Given the description of an element on the screen output the (x, y) to click on. 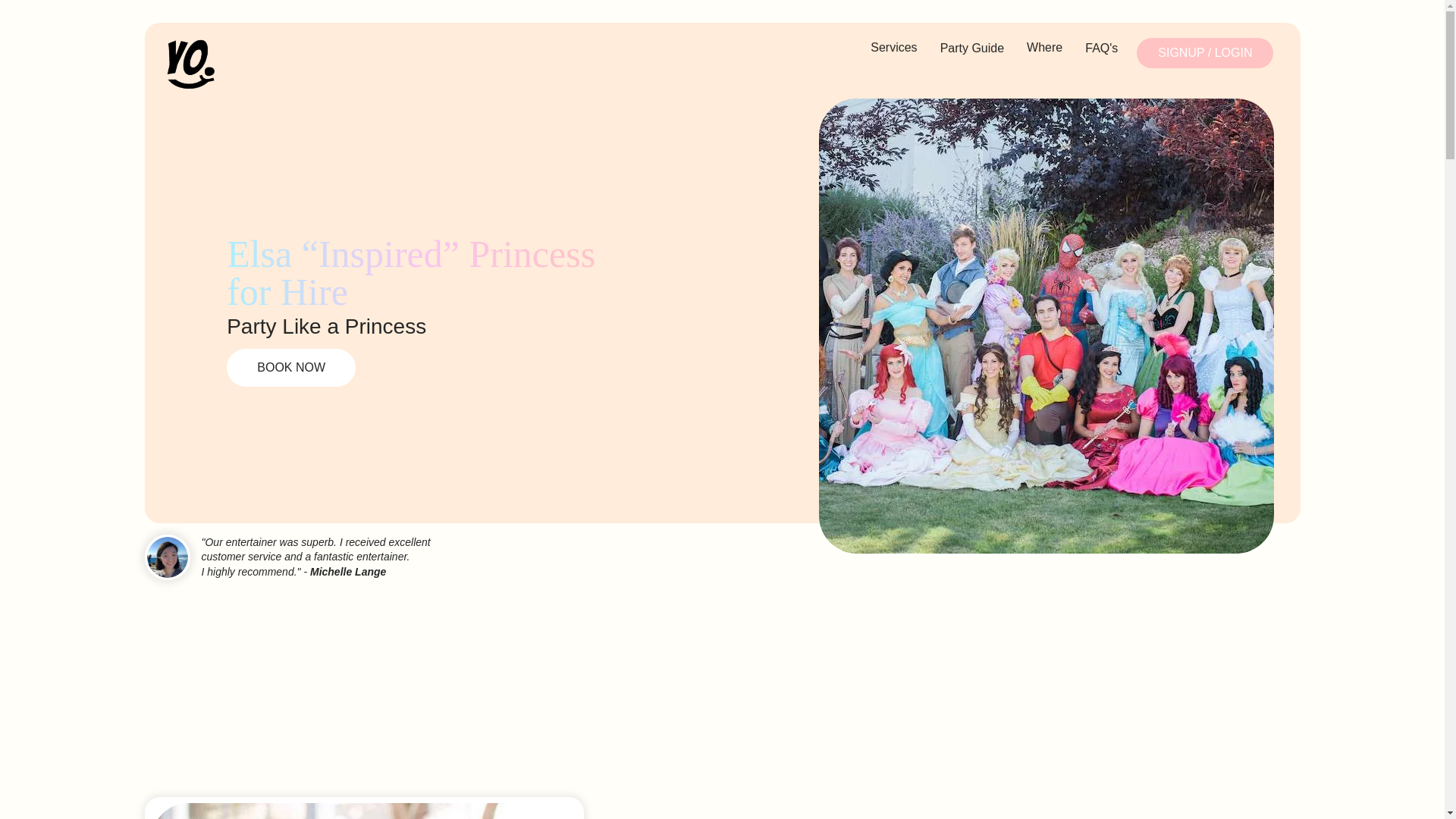
BOOK NOW (291, 367)
